Given the description of an element on the screen output the (x, y) to click on. 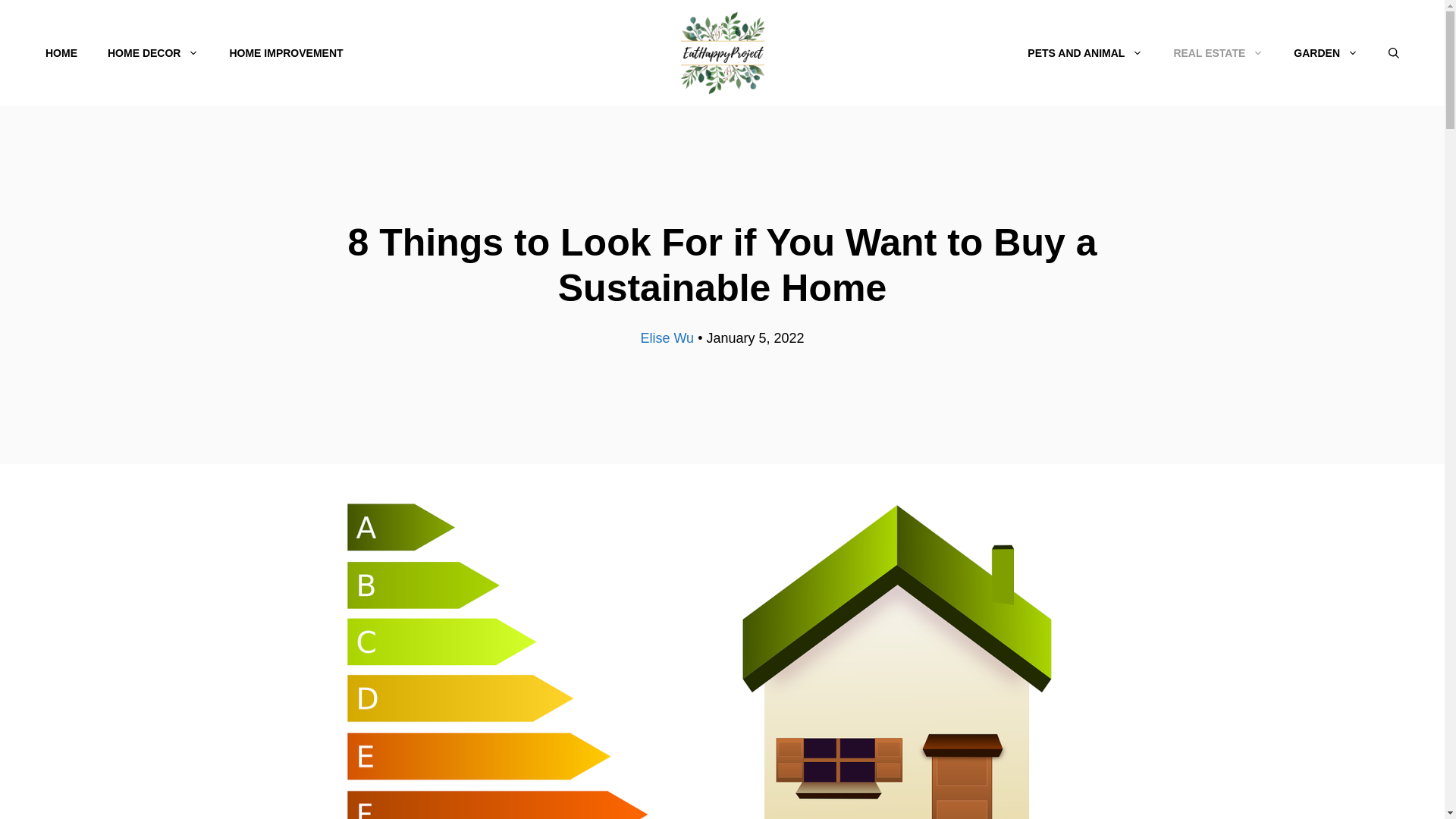
MENU ITEM SEPARATOR (685, 53)
PETS AND ANIMAL (1084, 53)
View all posts by Elise Wu (667, 337)
REAL ESTATE (1217, 53)
HOME (61, 53)
HOME IMPROVEMENT (286, 53)
GARDEN (1325, 53)
HOME DECOR (153, 53)
